Given the description of an element on the screen output the (x, y) to click on. 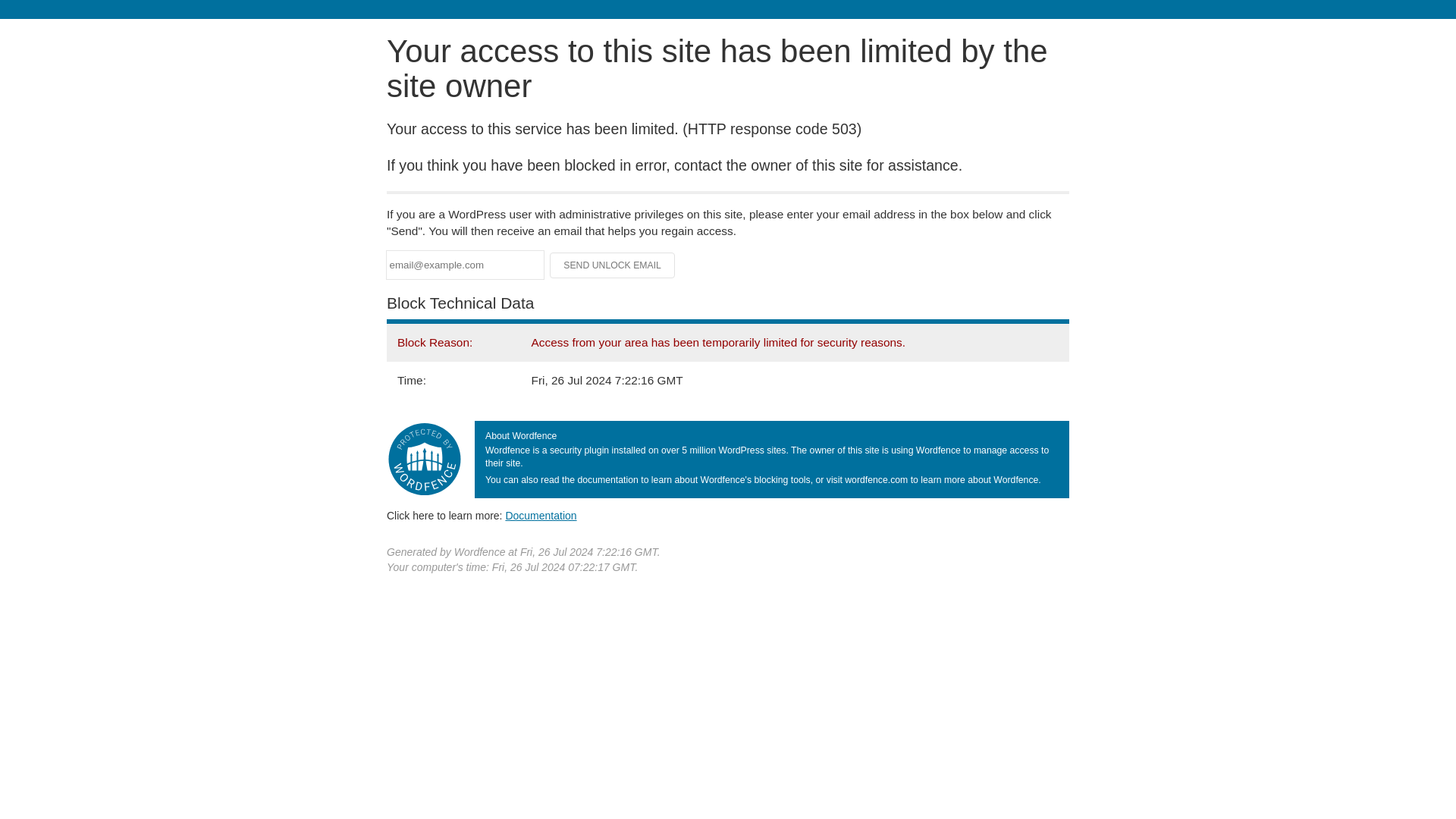
Send Unlock Email (612, 265)
Documentation (540, 515)
Send Unlock Email (612, 265)
